Given the description of an element on the screen output the (x, y) to click on. 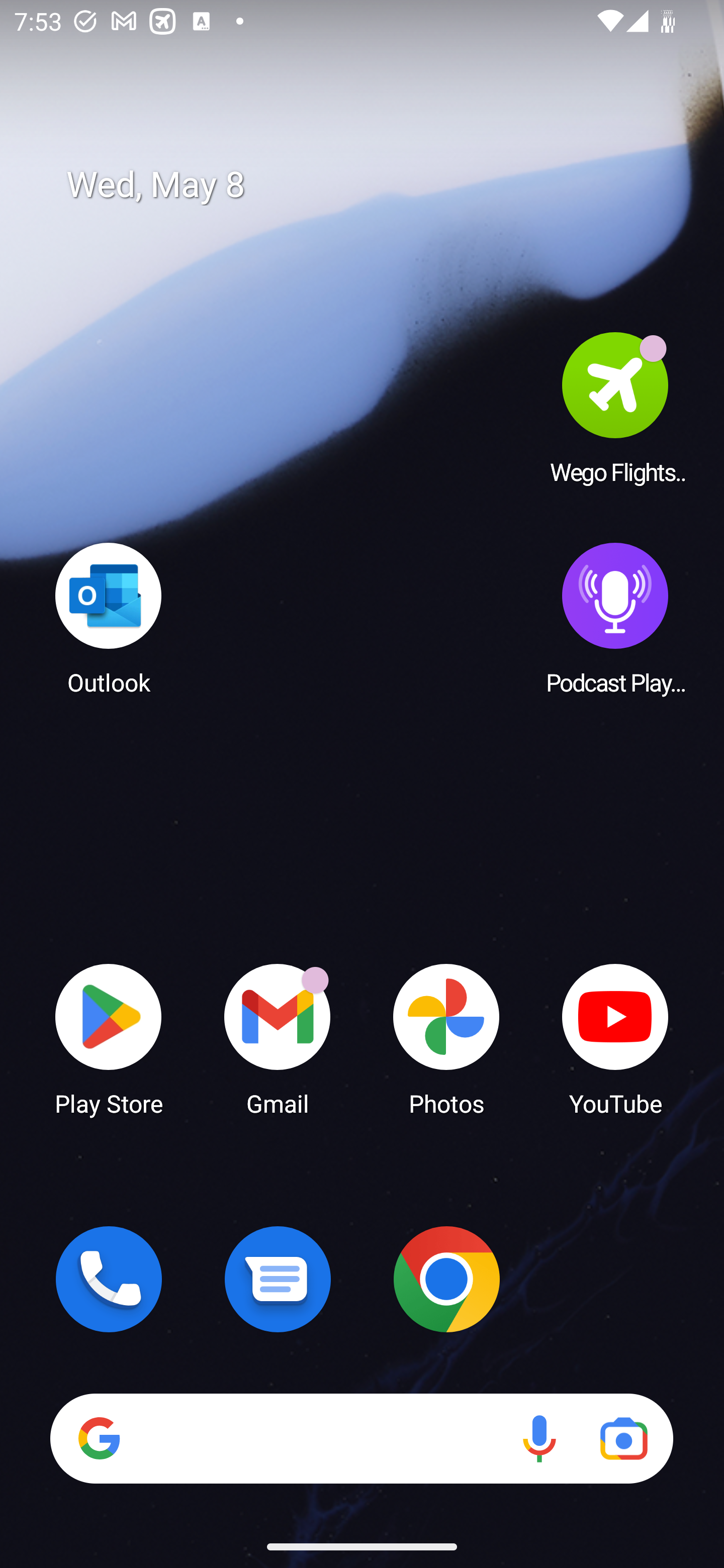
Wed, May 8 (375, 184)
Outlook (108, 617)
Podcast Player (615, 617)
Play Store (108, 1038)
Gmail Gmail has 17 notifications (277, 1038)
Photos (445, 1038)
YouTube (615, 1038)
Phone (108, 1279)
Messages (277, 1279)
Chrome (446, 1279)
Voice search (539, 1438)
Google Lens (623, 1438)
